Given the description of an element on the screen output the (x, y) to click on. 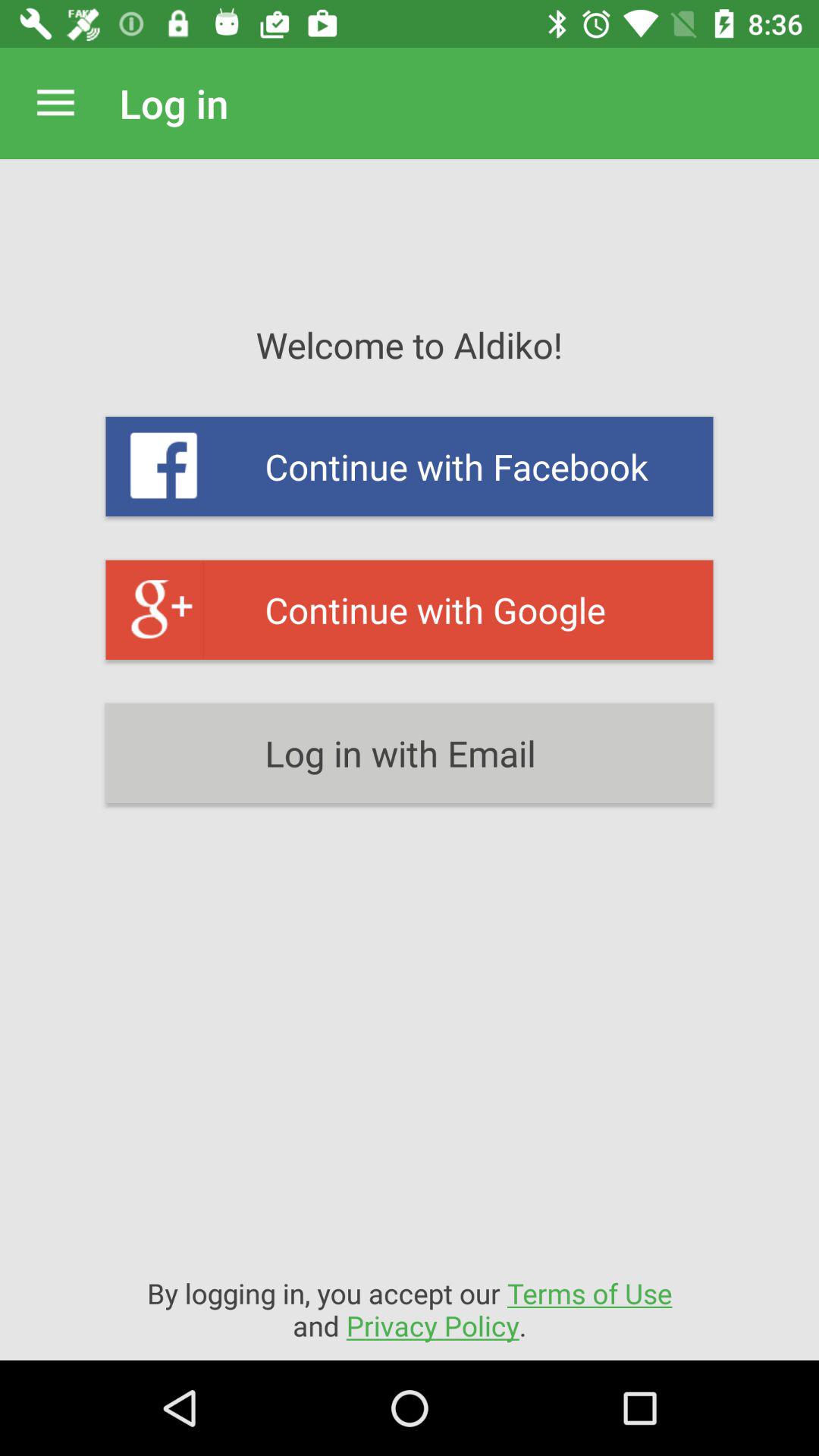
select the by logging in item (409, 1309)
